Given the description of an element on the screen output the (x, y) to click on. 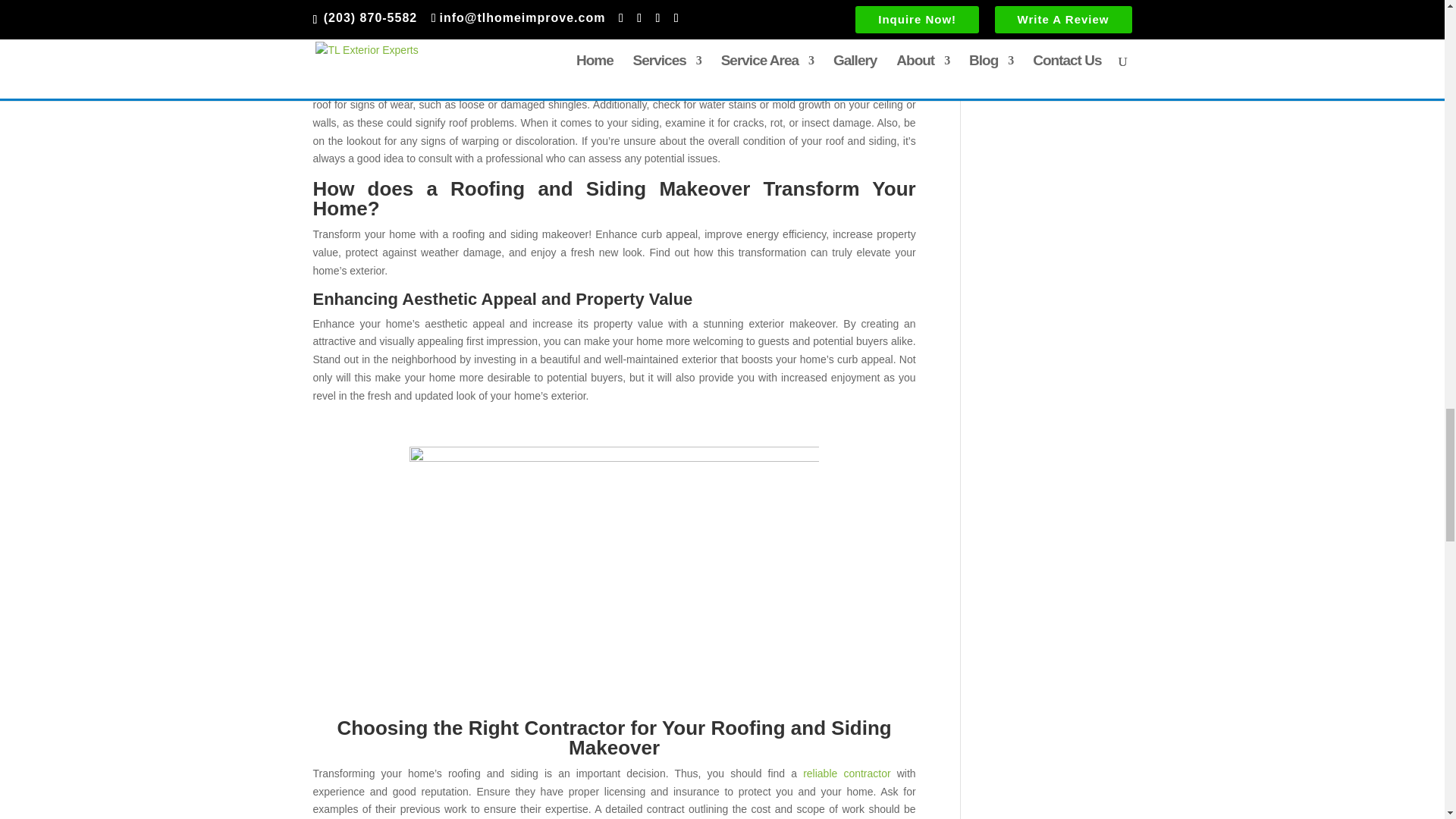
roofing (614, 561)
